Given the description of an element on the screen output the (x, y) to click on. 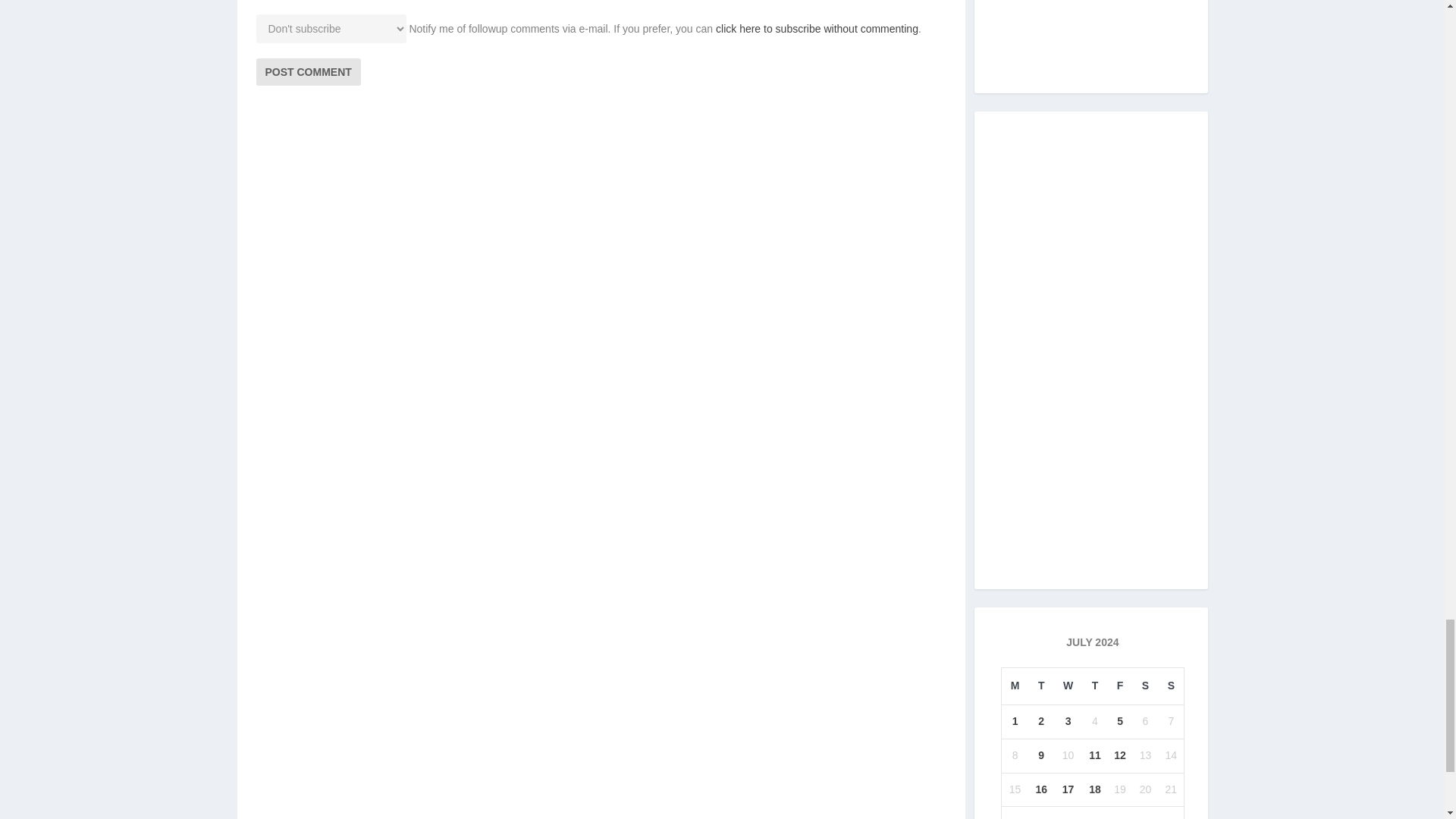
Post Comment (308, 71)
